Given the description of an element on the screen output the (x, y) to click on. 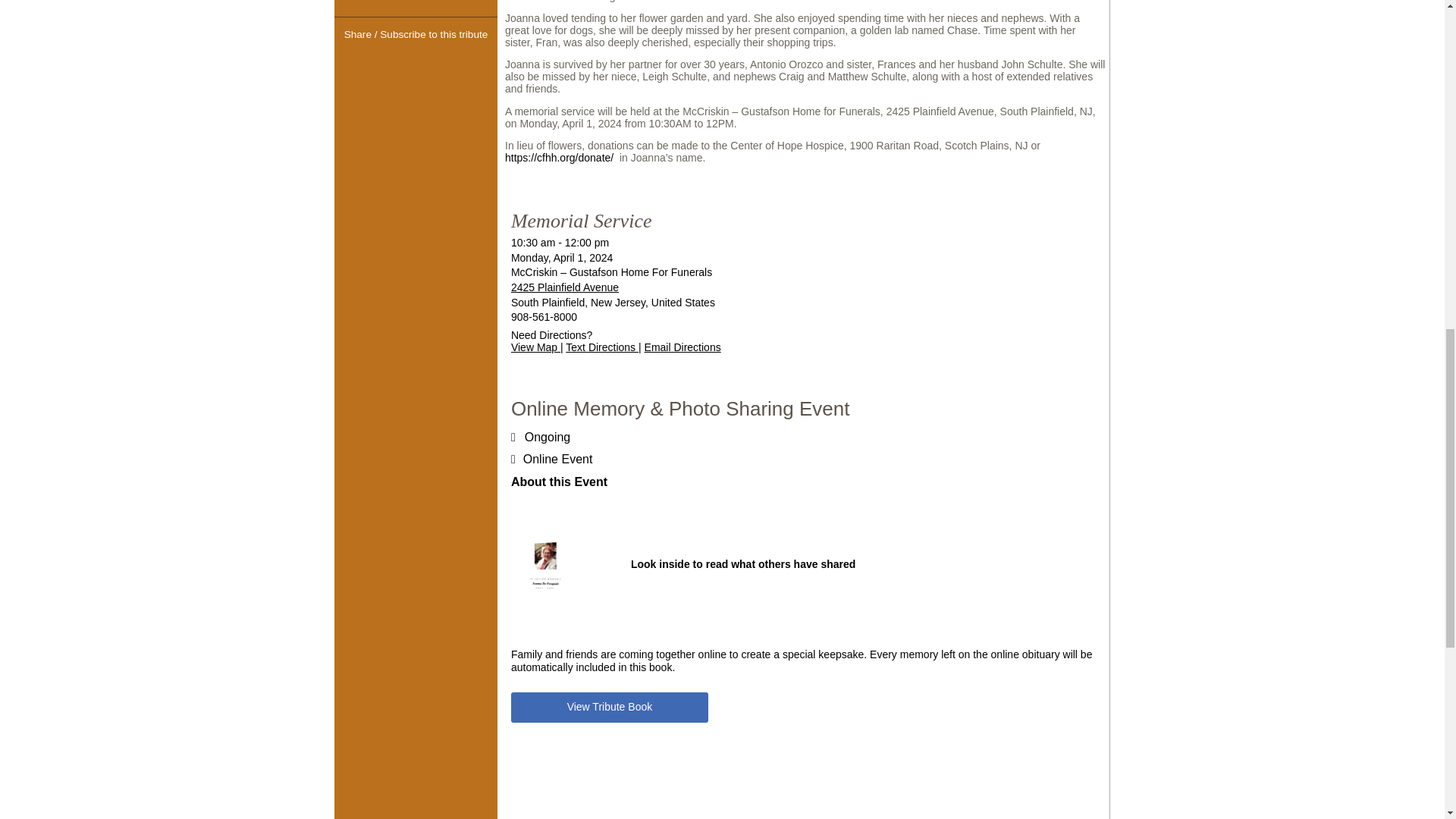
Facebook (387, 63)
Twitter (415, 63)
Receive Notifications (442, 63)
